Given the description of an element on the screen output the (x, y) to click on. 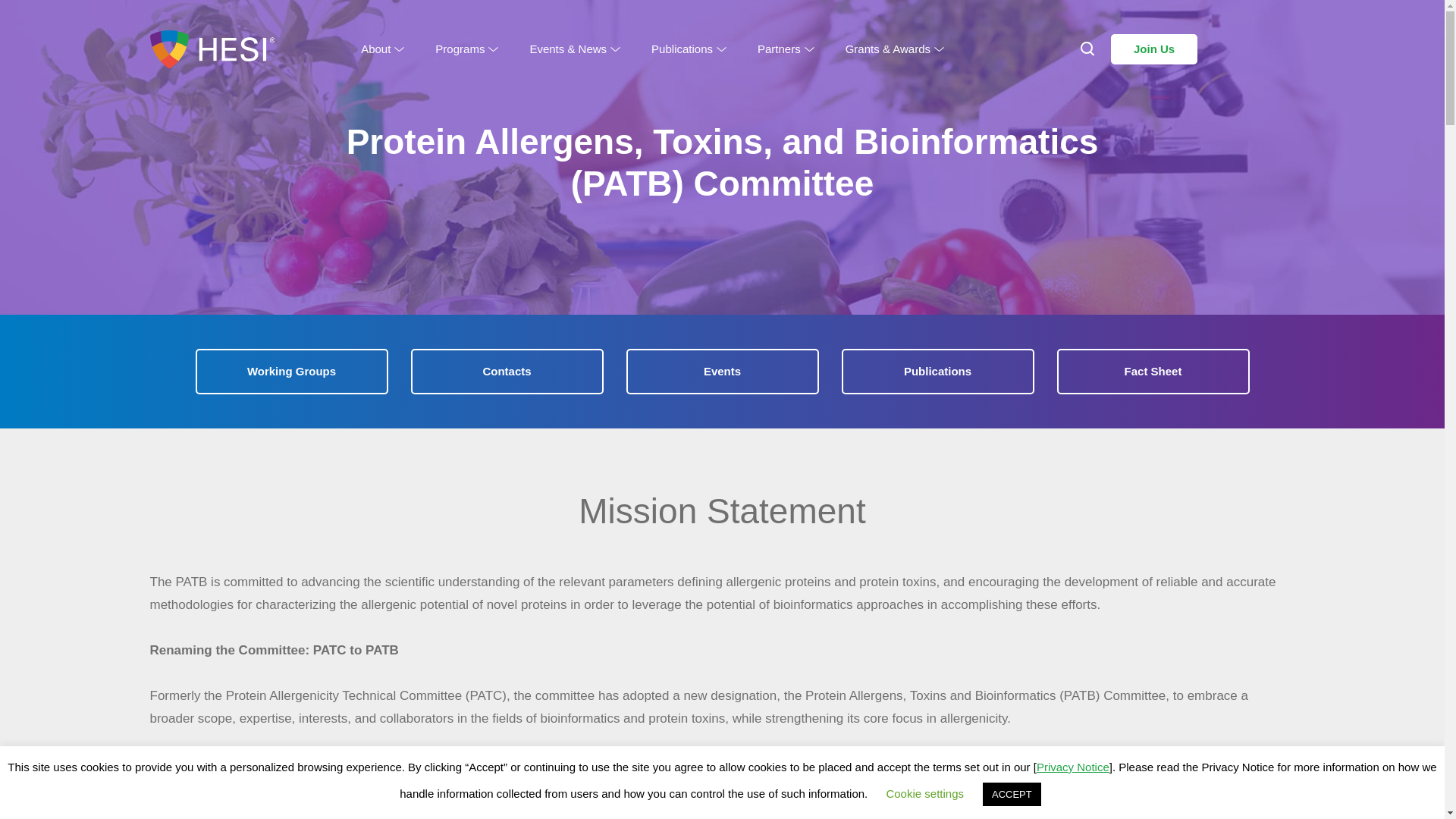
Programs (465, 48)
Partners (784, 48)
Current Partners (809, 73)
About (381, 48)
Publications (686, 48)
Peer-Reviewed Publications (723, 73)
Search (47, 22)
About HESI (409, 73)
HESI Conference Series (595, 73)
Events (722, 370)
Fact Sheet (1153, 370)
Working Groups (291, 370)
THRIVE (891, 73)
Publications (937, 370)
Join Us (1153, 49)
